Given the description of an element on the screen output the (x, y) to click on. 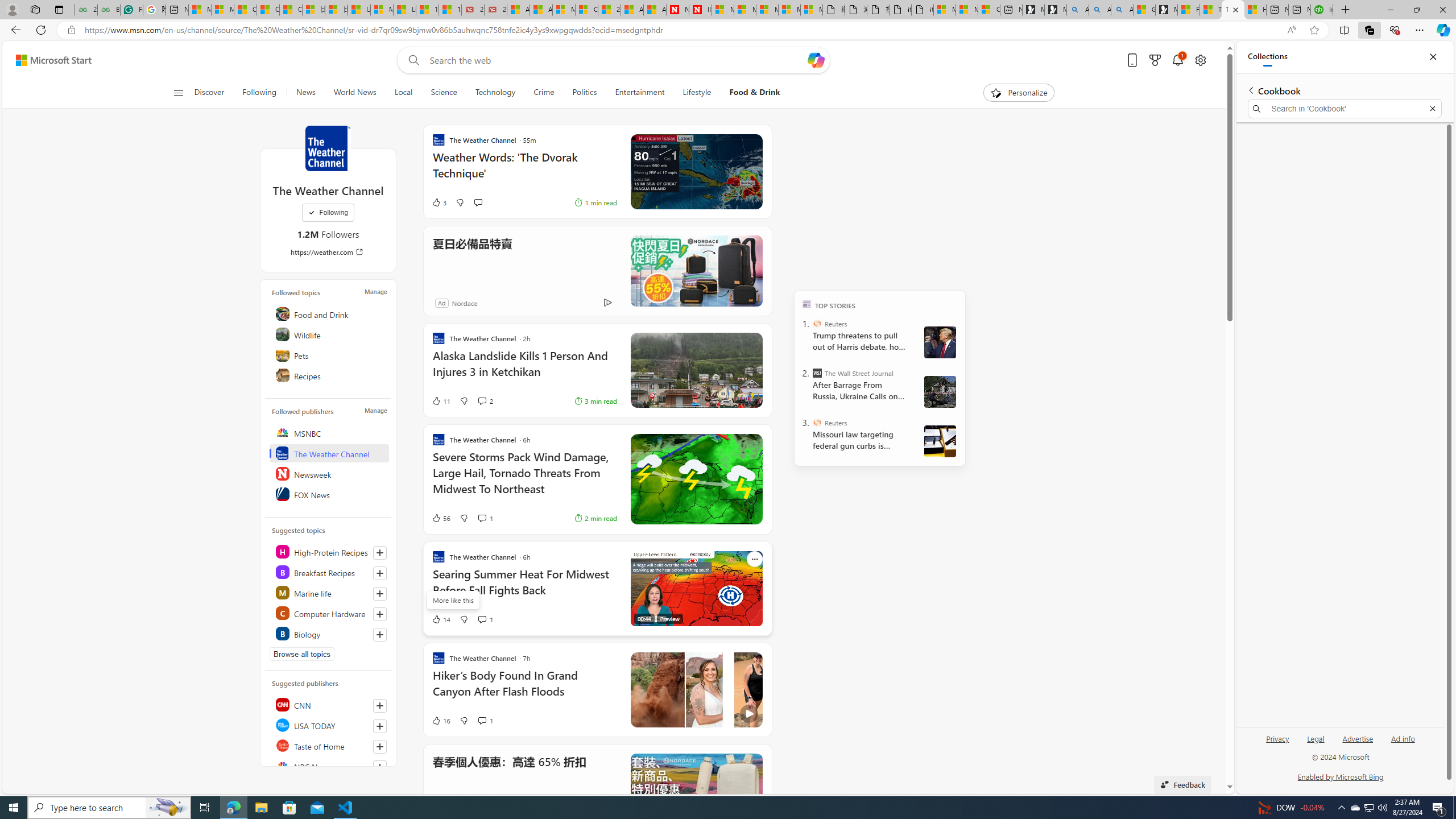
Back to list of collections (1250, 90)
How to Use a TV as a Computer Monitor (1255, 9)
Pets (328, 354)
Class: hero-image (696, 689)
Exit search (1432, 108)
